Given the description of an element on the screen output the (x, y) to click on. 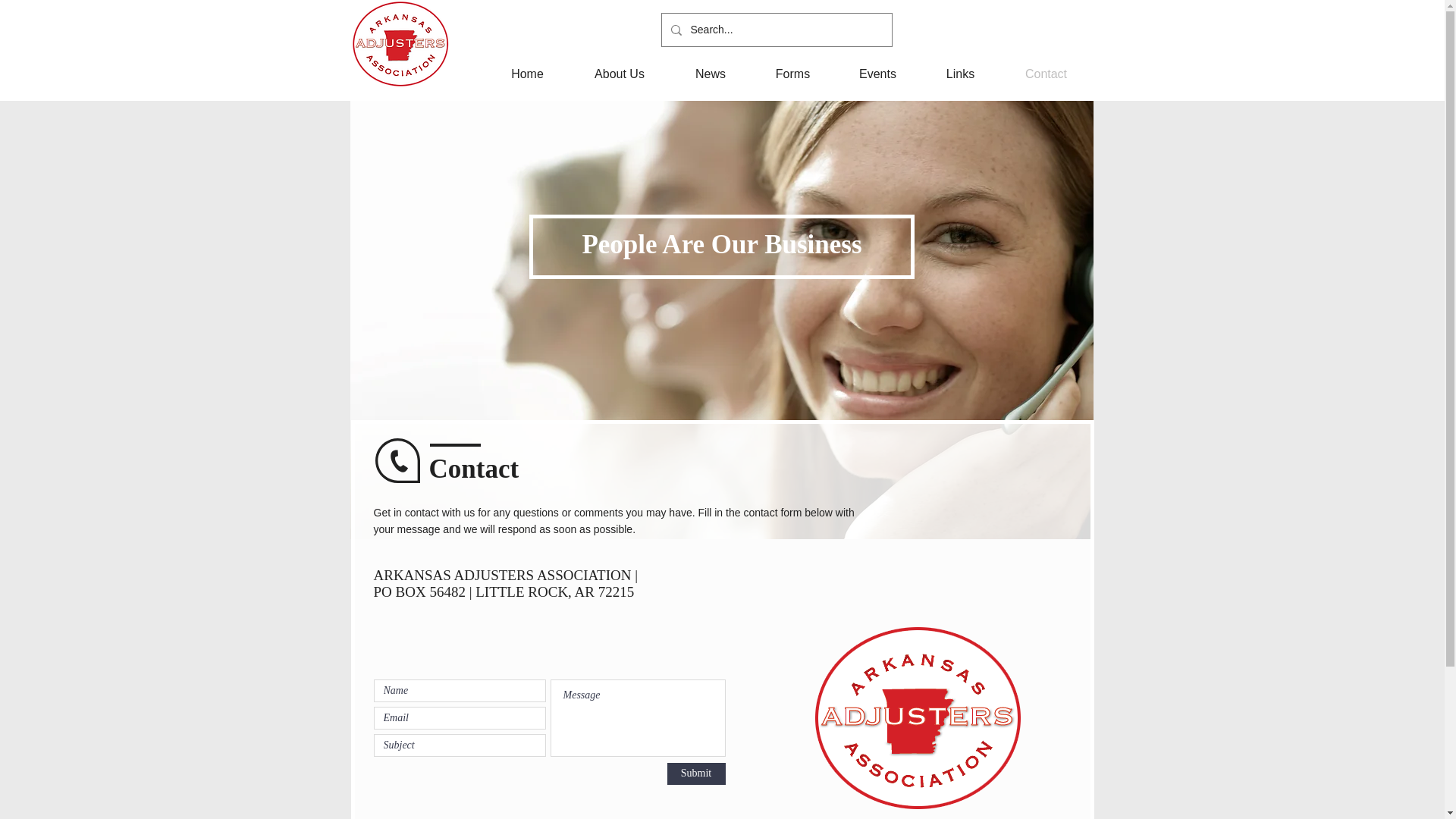
Forms (792, 73)
About Us (619, 73)
Links (959, 73)
Home (526, 73)
Events (877, 73)
Contact (1045, 73)
News (710, 73)
Submit (695, 773)
